Given the description of an element on the screen output the (x, y) to click on. 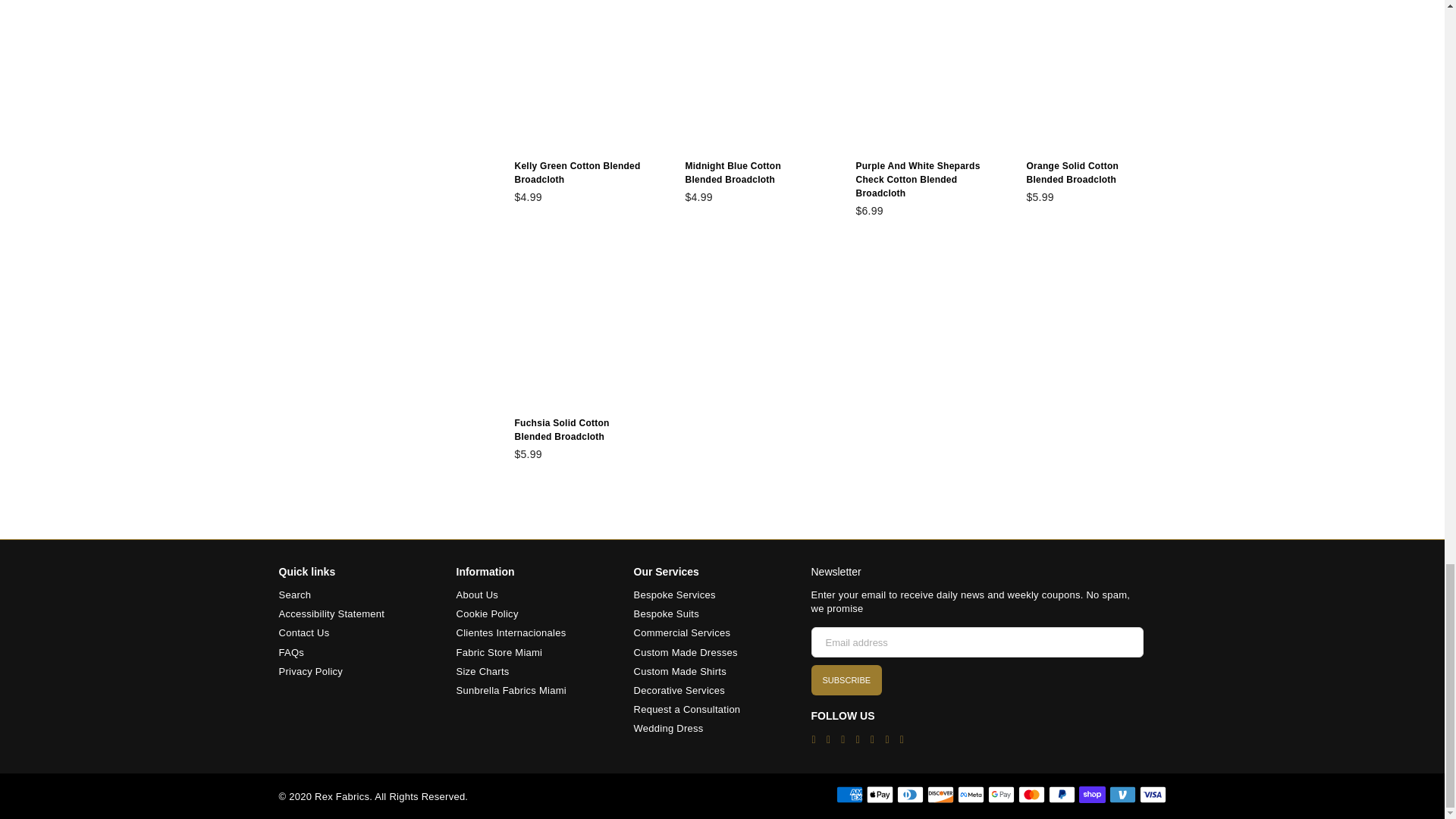
American Express (848, 794)
Discover (939, 794)
Venmo (1121, 794)
Mastercard (1030, 794)
Apple Pay (879, 794)
Diners Club (909, 794)
Shop Pay (1091, 794)
Meta Pay (970, 794)
Visa (1152, 794)
Rex Fabrics on Facebook (813, 739)
